Given the description of an element on the screen output the (x, y) to click on. 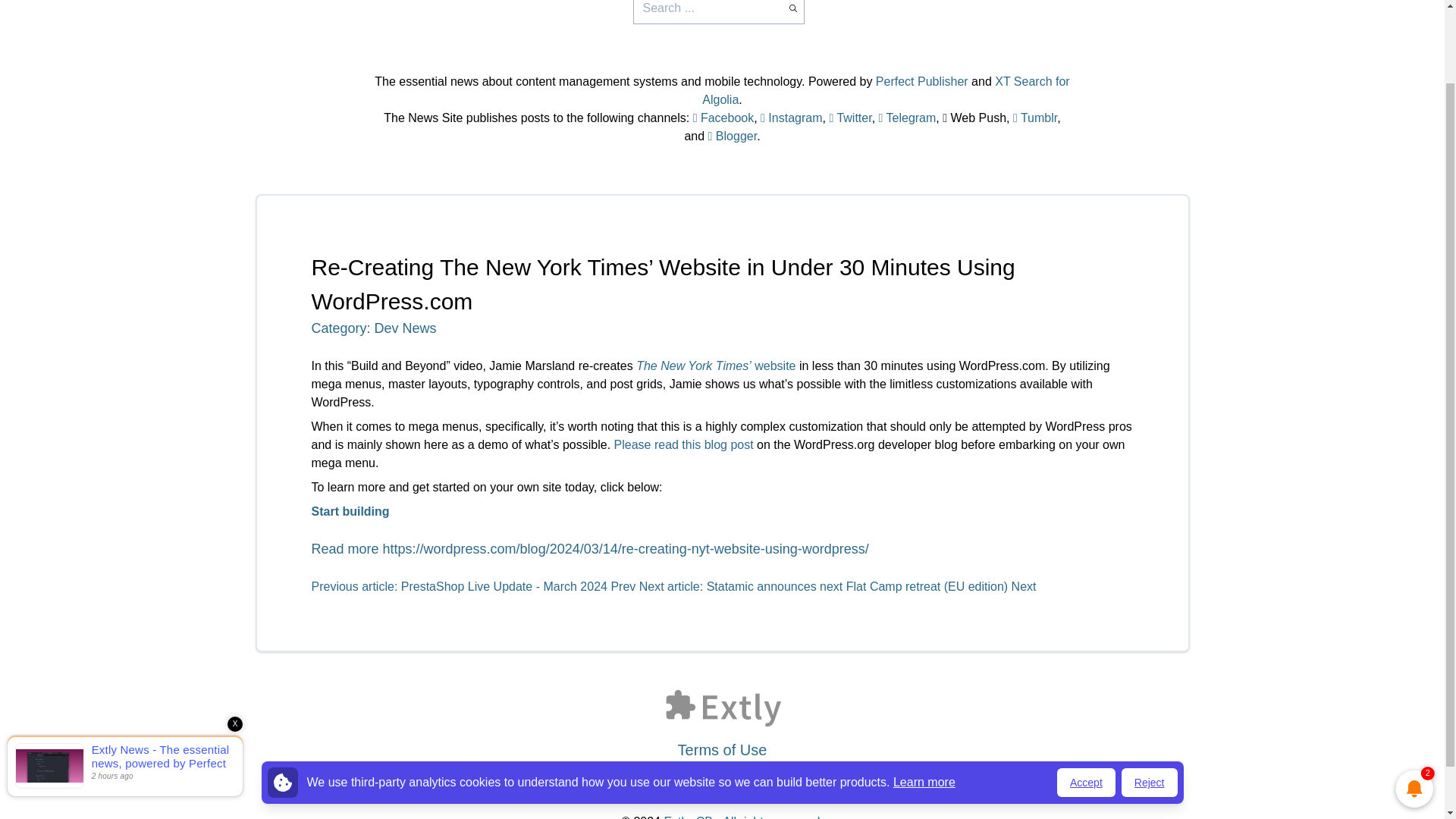
Instagram (791, 117)
Tumblr (1035, 117)
Blogger (732, 135)
Twitter (849, 117)
Perfect Publisher (922, 81)
Reject (1149, 695)
Learn more (924, 695)
Start building (349, 511)
XT Search for Algolia (884, 90)
Dev News (405, 328)
Telegram (907, 117)
Terms of Use (722, 750)
Previous article: PrestaShop Live Update - March 2024 Prev (475, 585)
Accept (1086, 695)
Please read this blog post (684, 444)
